Given the description of an element on the screen output the (x, y) to click on. 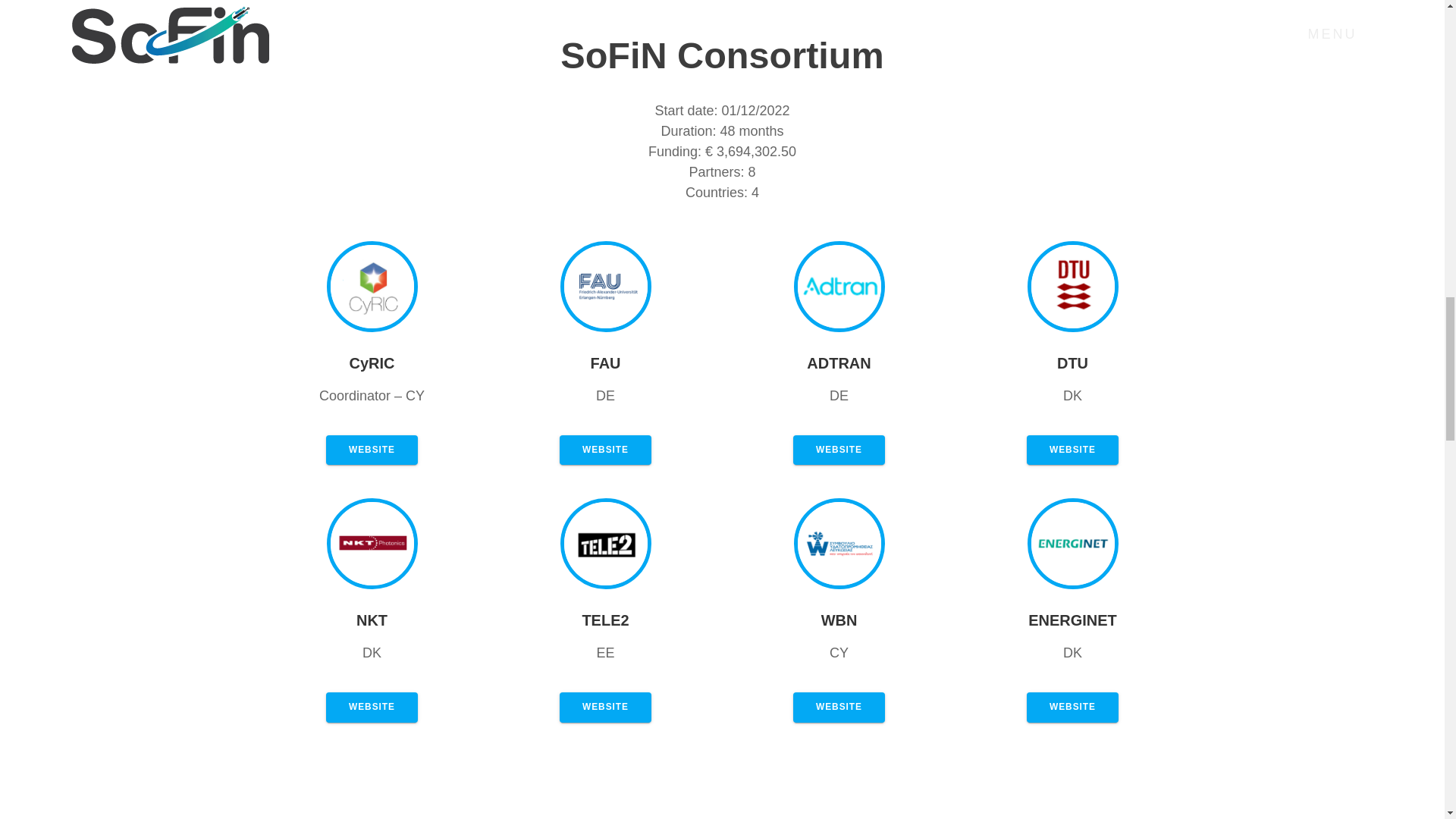
WEBSITE (604, 706)
WEBSITE (371, 449)
WEBSITE (371, 706)
WEBSITE (839, 706)
WEBSITE (1072, 449)
WEBSITE (1072, 706)
WEBSITE (839, 449)
WEBSITE (604, 449)
